Given the description of an element on the screen output the (x, y) to click on. 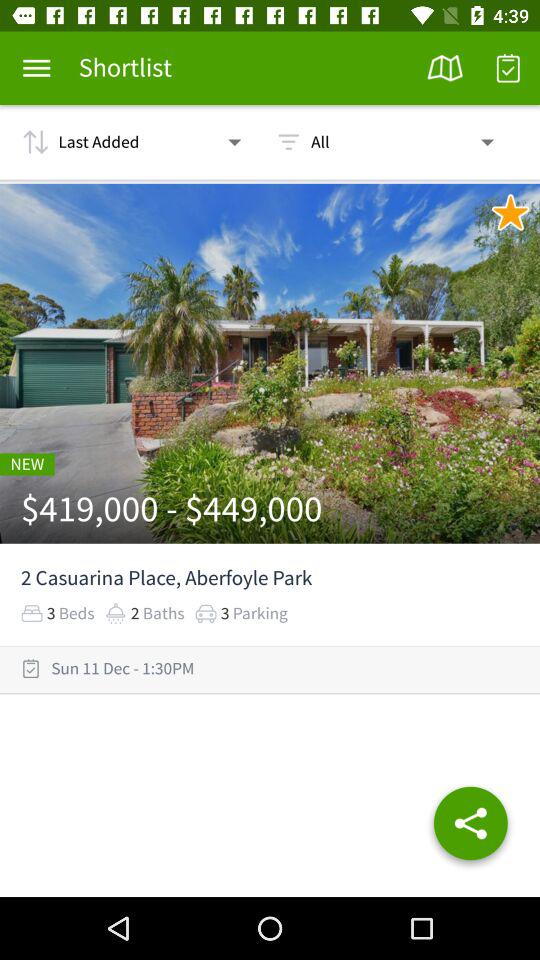
unfavourite this place (510, 212)
